Given the description of an element on the screen output the (x, y) to click on. 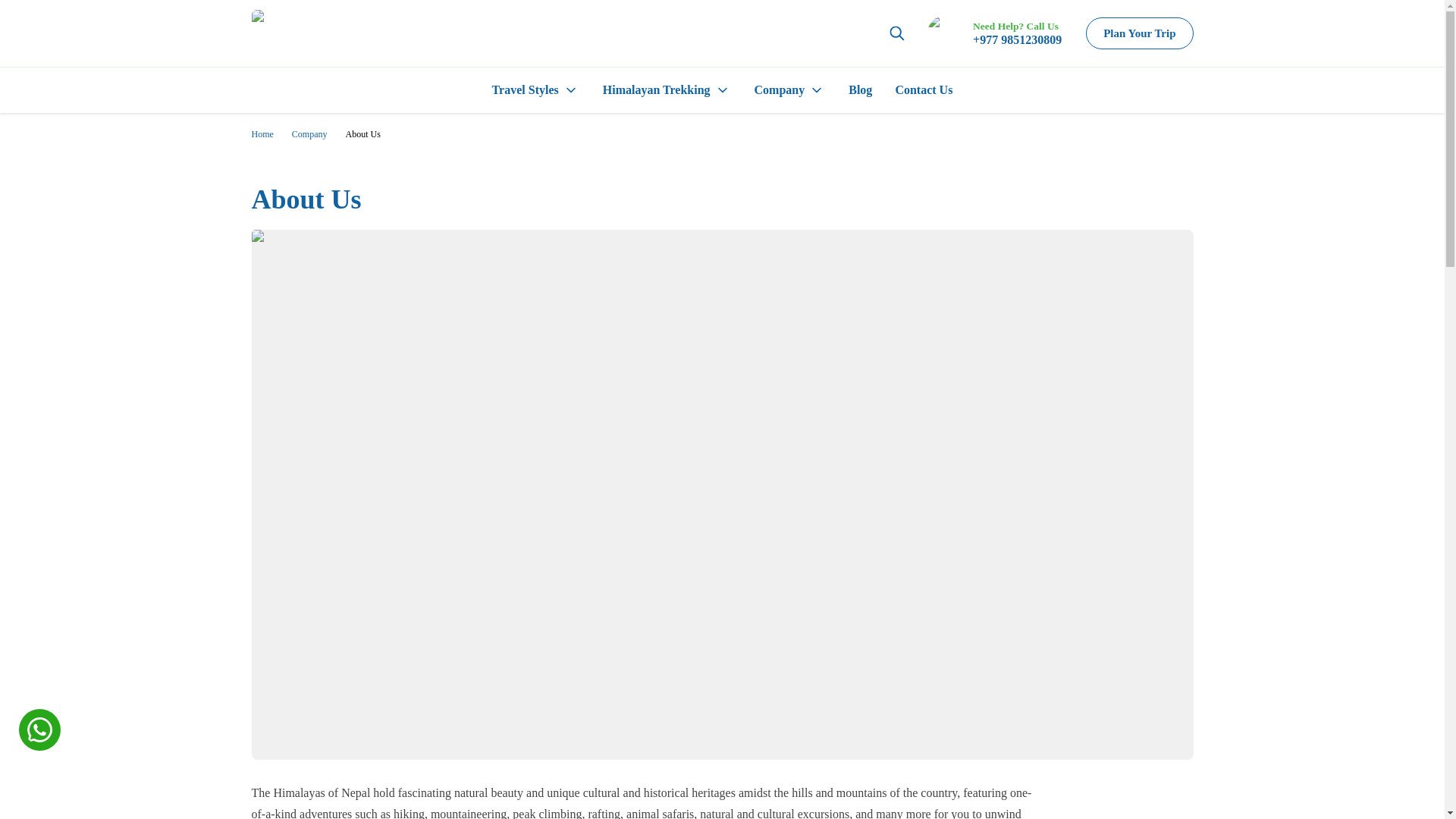
Plan Your Trip (1139, 33)
